Given the description of an element on the screen output the (x, y) to click on. 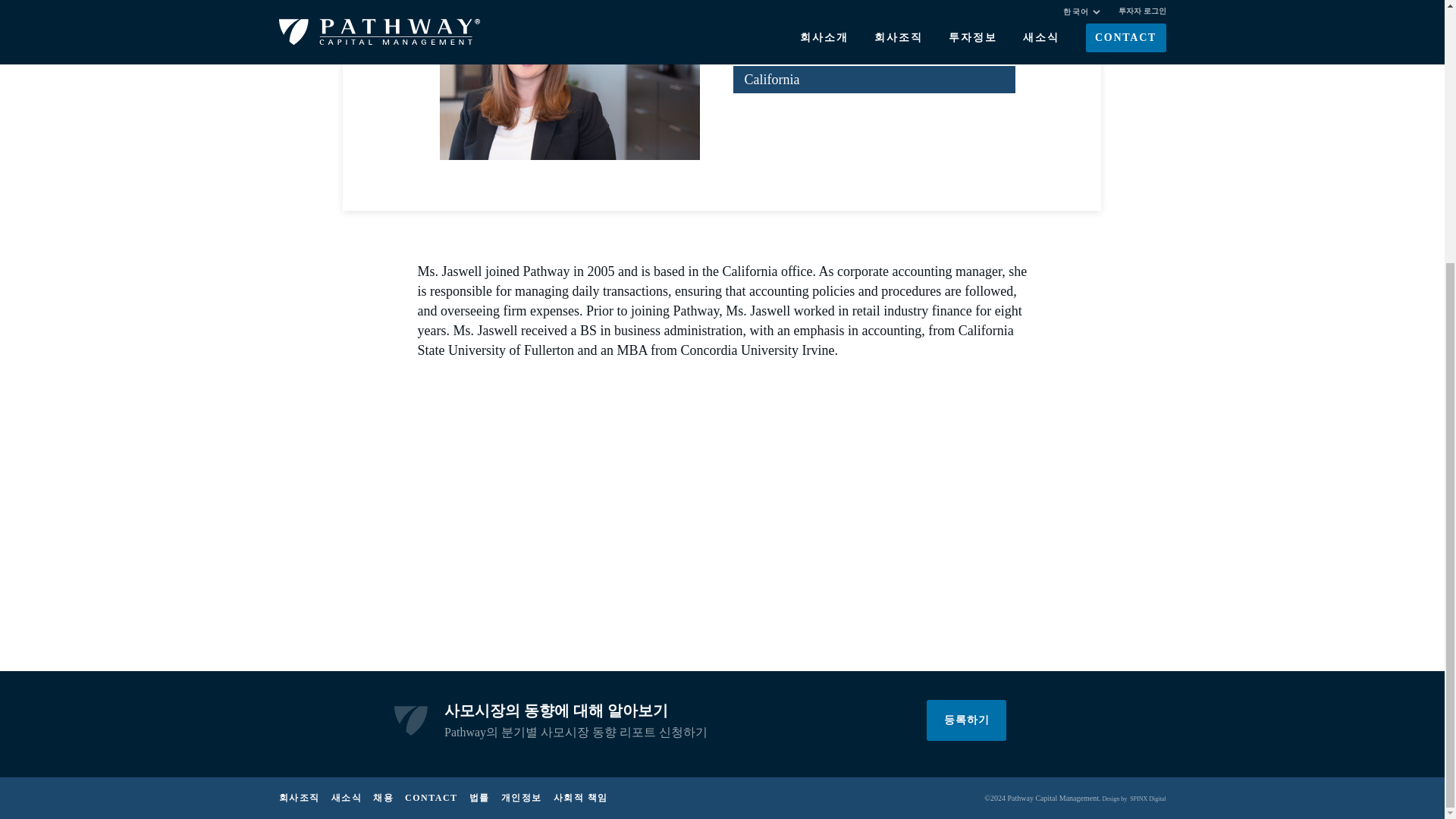
SPINX Digital (1147, 798)
CONTACT (431, 797)
Website Design Company in Los Angeles (1147, 798)
